Given the description of an element on the screen output the (x, y) to click on. 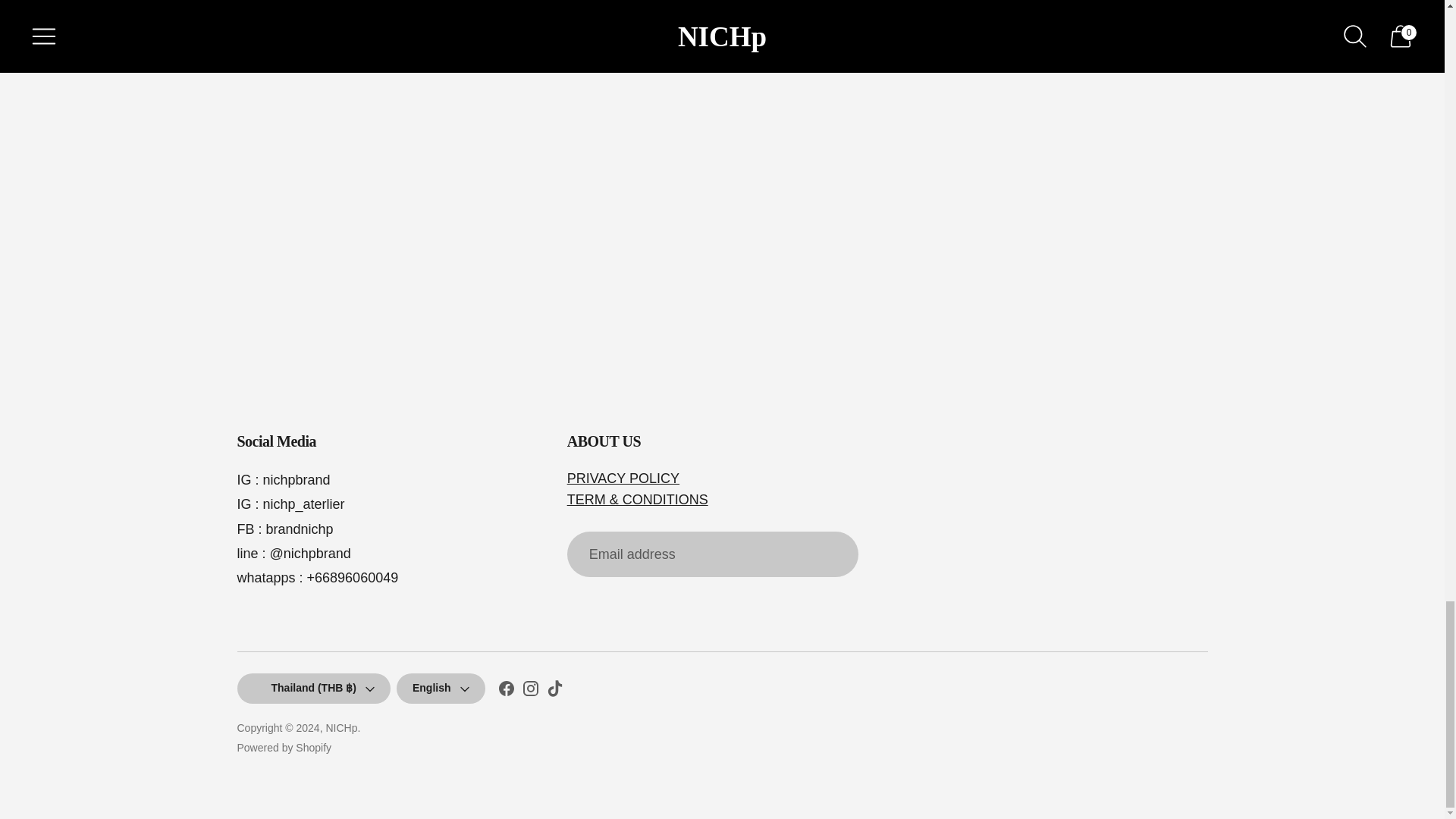
PRIVACY POLICY (623, 478)
